Given the description of an element on the screen output the (x, y) to click on. 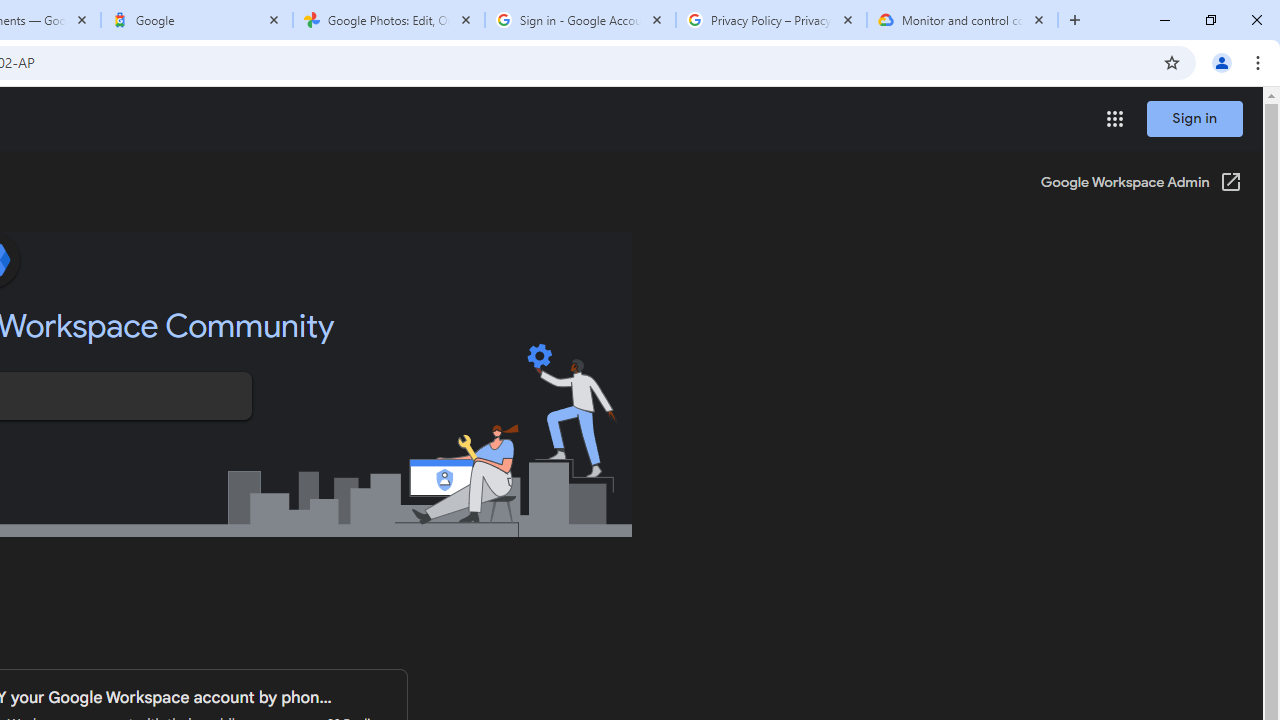
Google (197, 20)
Google Workspace Admin (Open in a new window) (1140, 183)
Sign in - Google Accounts (580, 20)
